Given the description of an element on the screen output the (x, y) to click on. 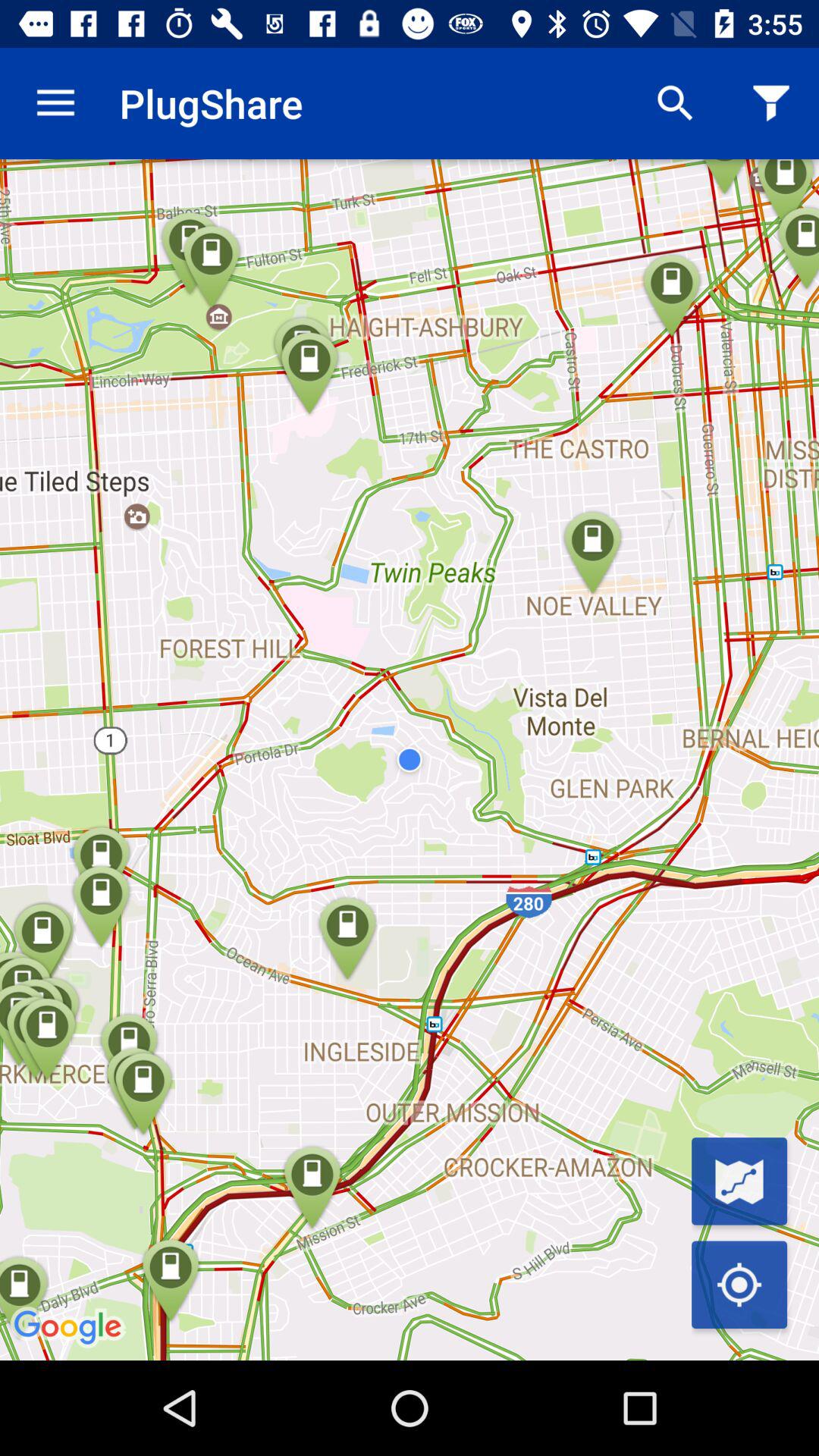
select the item to the right of plugshare item (675, 103)
